Given the description of an element on the screen output the (x, y) to click on. 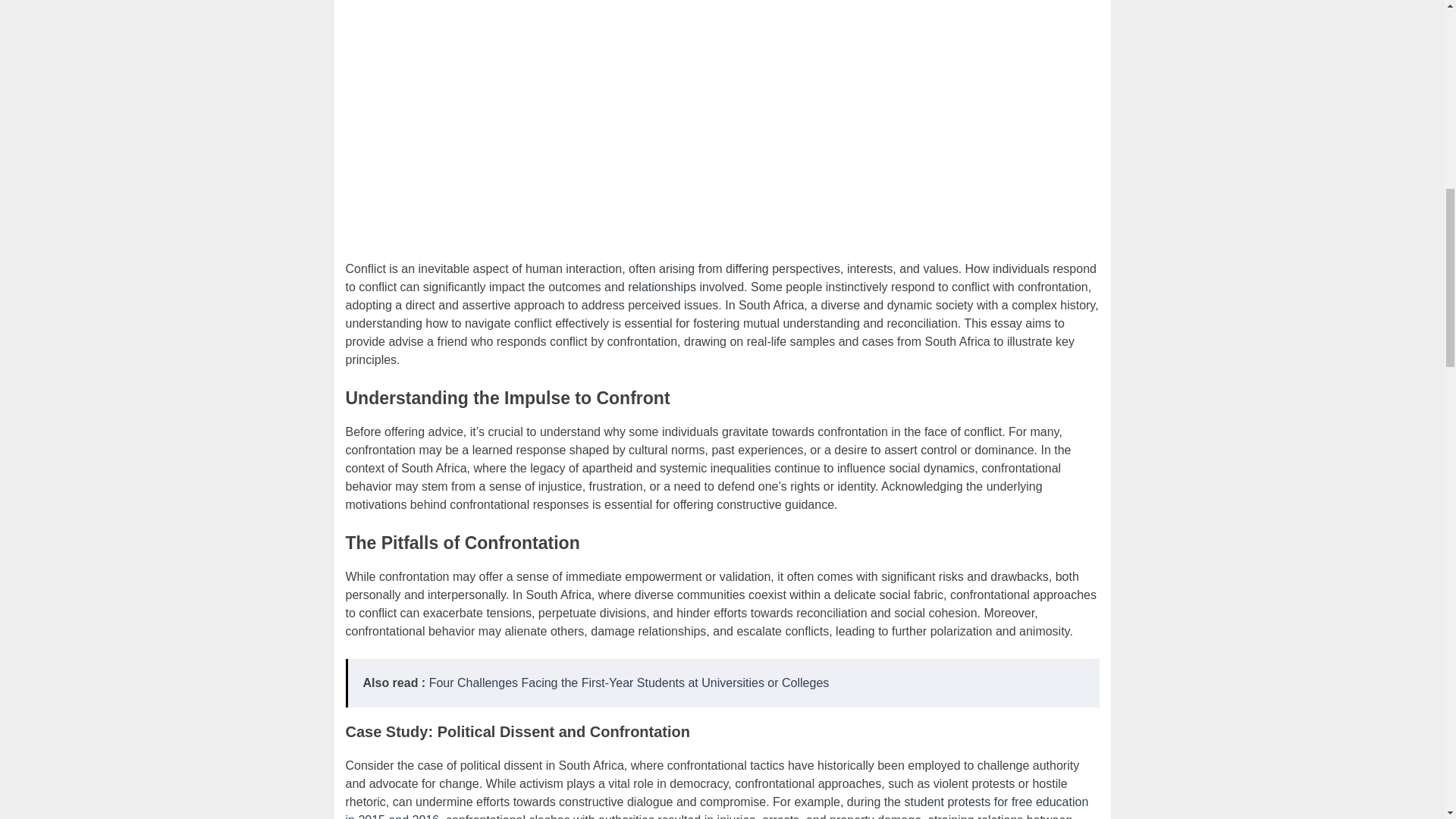
relationships (661, 286)
student protests for free education in 2015 and 2016 (717, 807)
